Given the description of an element on the screen output the (x, y) to click on. 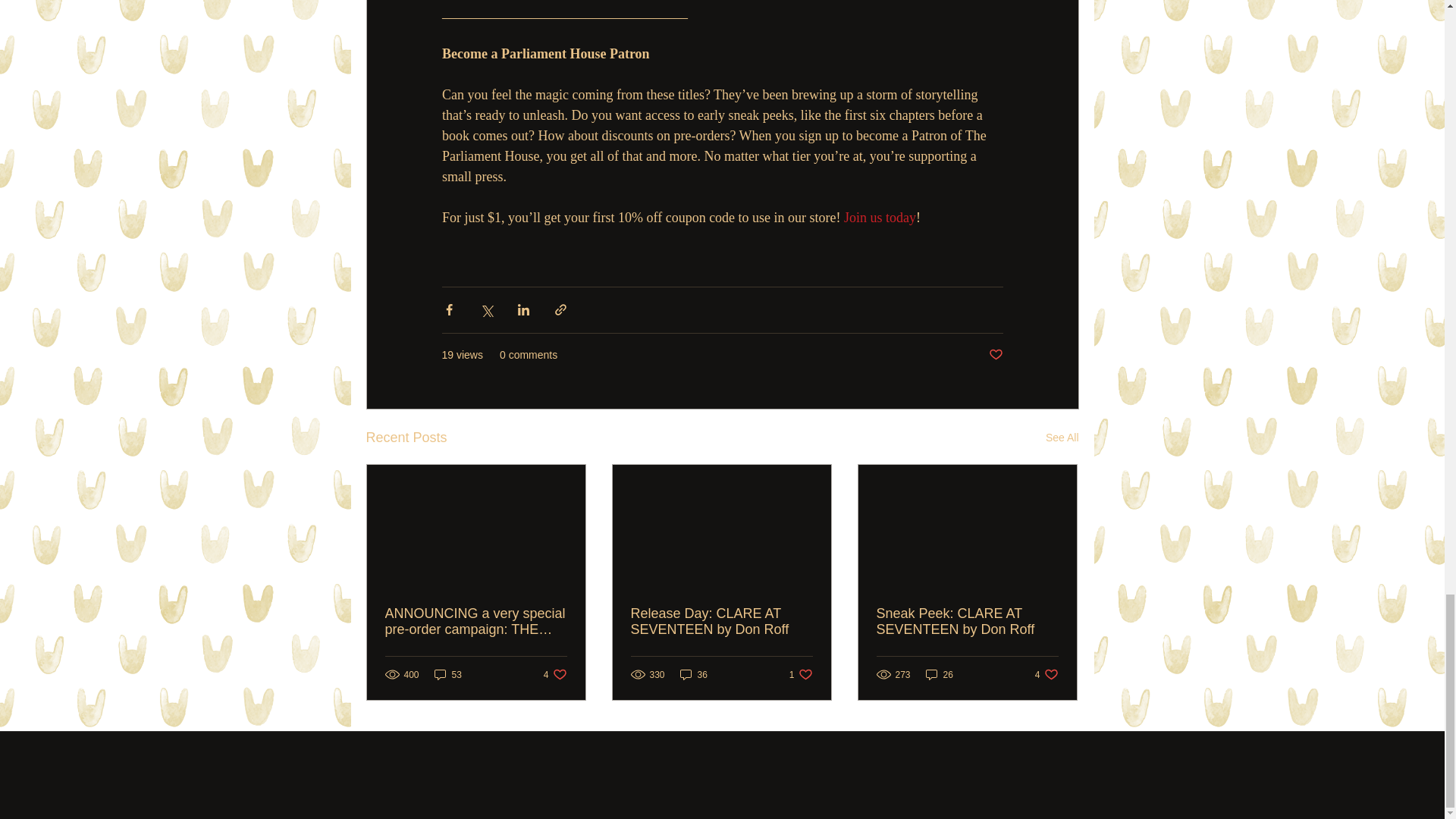
Post not marked as liked (995, 355)
Join us today (879, 217)
53 (447, 674)
See All (1061, 437)
